Given the description of an element on the screen output the (x, y) to click on. 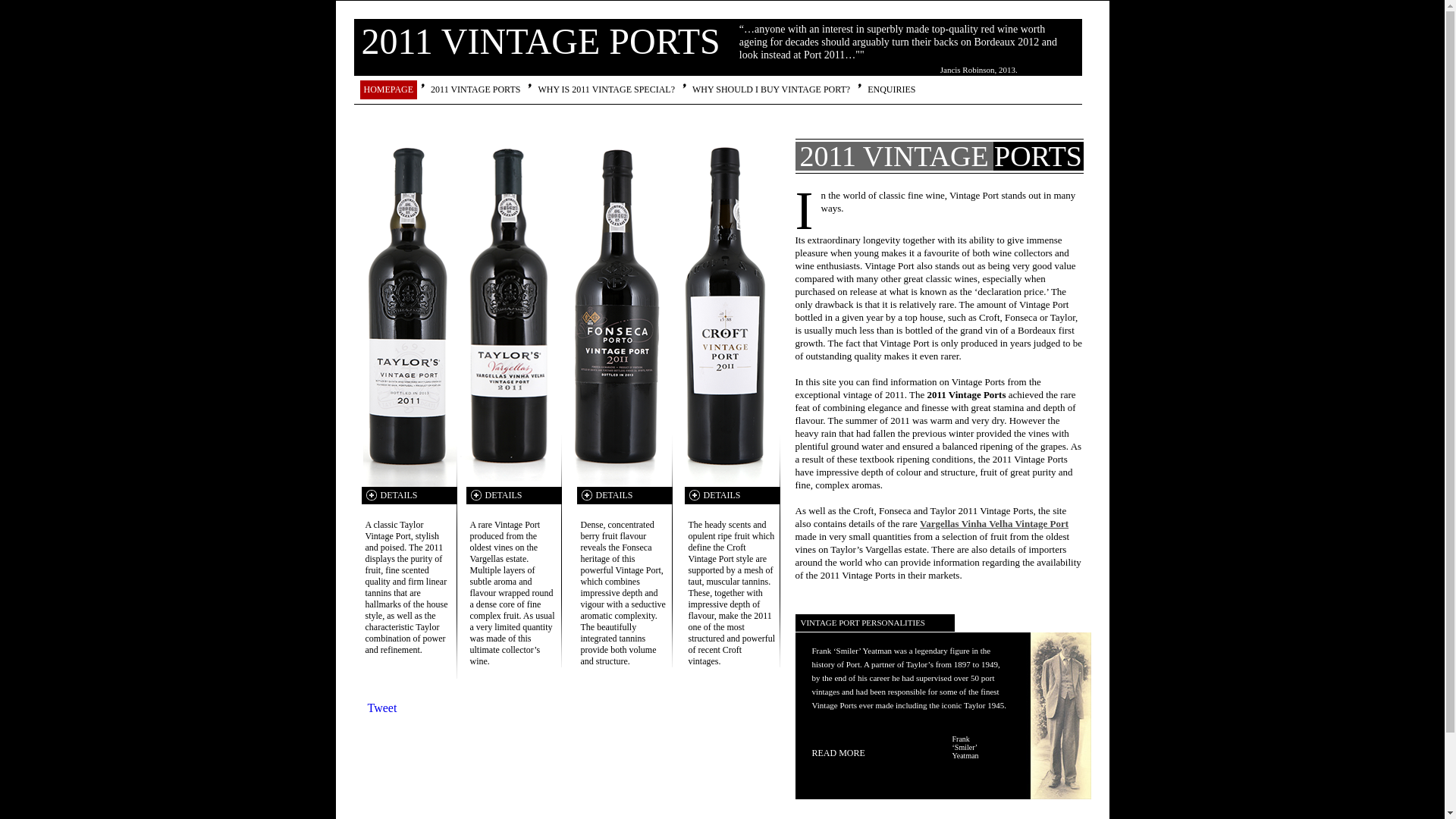
DETAILS Element type: text (730, 495)
DETAILS Element type: text (511, 495)
2011 VINTAGE PORTS Element type: text (539, 41)
Tweet Element type: text (381, 707)
WHY IS 2011 VINTAGE SPECIAL? Element type: text (605, 89)
ENQUIRIES Element type: text (891, 89)
DETAILS Element type: text (622, 495)
Vargellas Vinha Velha Vintage Port Element type: text (993, 523)
VINTAGE PORT PERSONALITIES Element type: text (862, 622)
WHY SHOULD I BUY VINTAGE PORT? Element type: text (770, 89)
HOMEPAGE Element type: text (388, 89)
2011 VINTAGE PORTS Element type: text (475, 89)
DETAILS Element type: text (407, 495)
READ MORE Element type: text (837, 752)
